Given the description of an element on the screen output the (x, y) to click on. 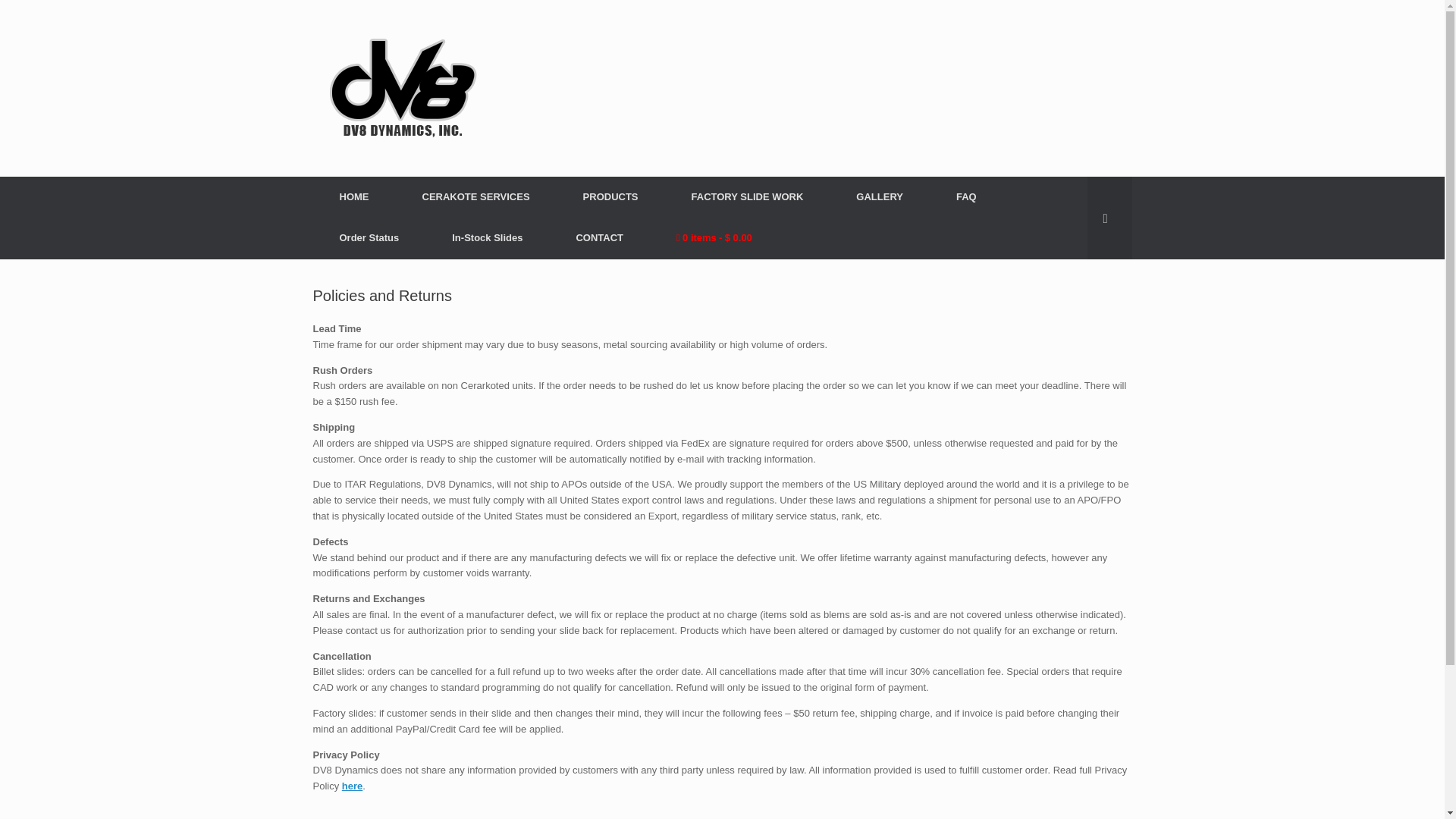
CERAKOTE SERVICES (476, 196)
CONTACT (598, 237)
DV8 Dynamics (401, 88)
here (352, 785)
Order Status (369, 237)
Start shopping (713, 238)
FAQ (966, 196)
GALLERY (879, 196)
FACTORY SLIDE WORK (747, 196)
In-Stock Slides (486, 237)
PRODUCTS (610, 196)
HOME (353, 196)
